Given the description of an element on the screen output the (x, y) to click on. 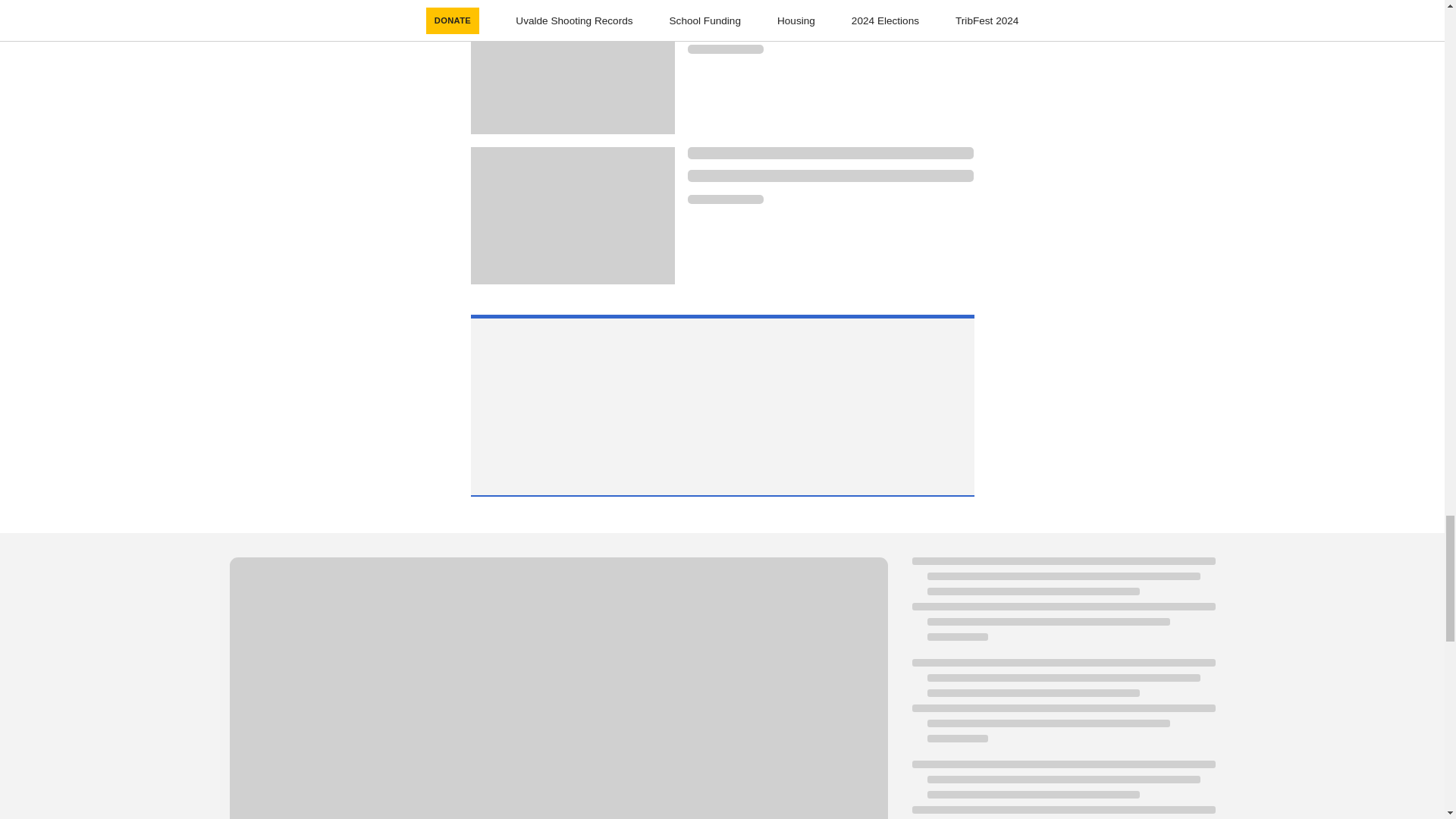
Loading indicator (830, 175)
Loading indicator (830, 25)
Loading indicator (830, 152)
Loading indicator (830, 4)
Loading indicator (724, 49)
Loading indicator (724, 198)
